Given the description of an element on the screen output the (x, y) to click on. 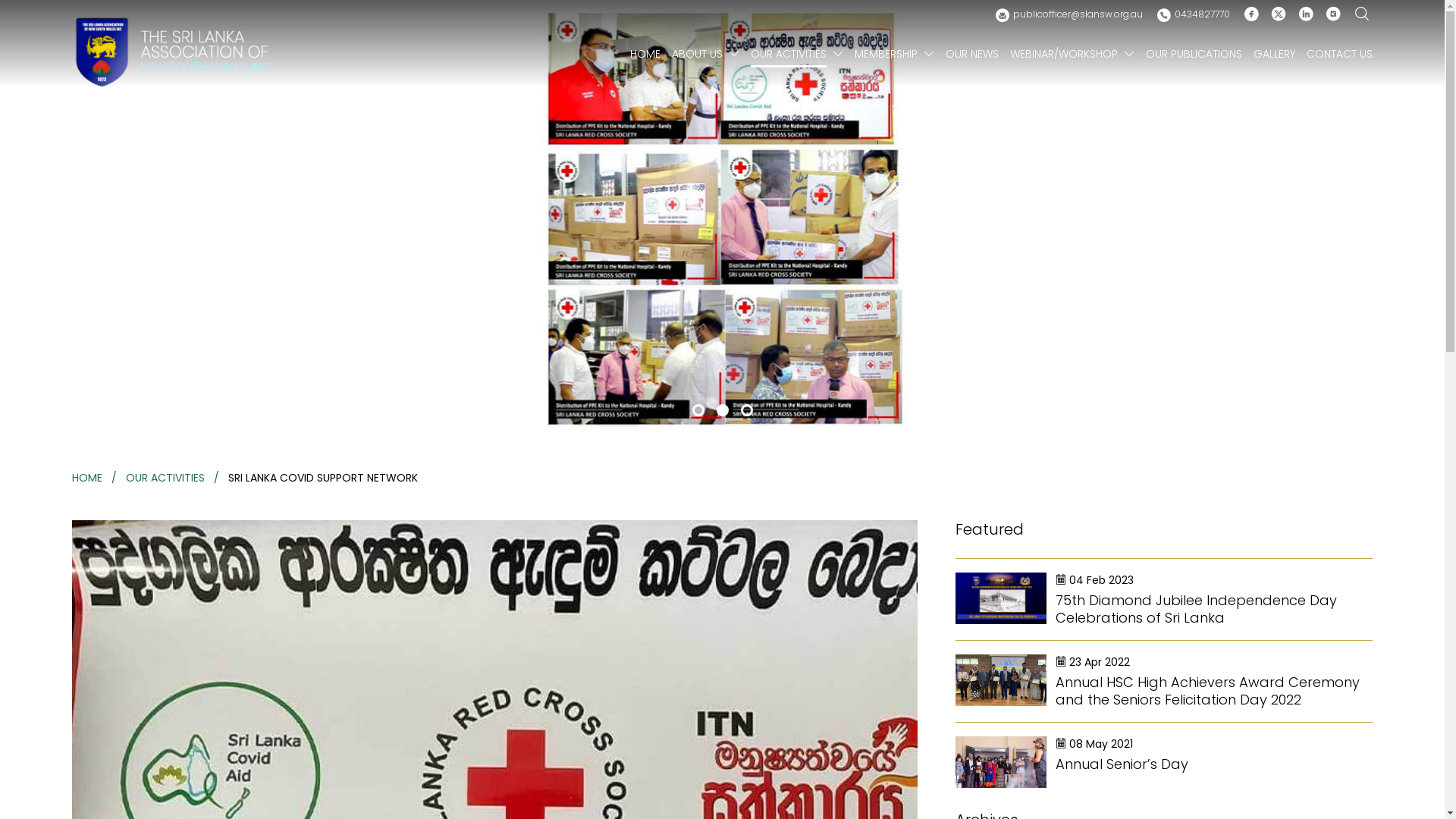
MEMBERSHIP Element type: text (885, 54)
publicofficer@slansw.org.au Element type: text (1068, 14)
OUR NEWS Element type: text (971, 54)
Instagram Element type: hover (1332, 14)
SRI LANKA COVID SUPPORT NETWORK Element type: text (322, 477)
OUR ACTIVITIES Element type: text (164, 477)
Facebook Element type: hover (1250, 14)
ABOUT US Element type: text (696, 54)
CONTACT US Element type: text (1339, 54)
WEBINAR/WORKSHOP Element type: text (1063, 54)
OUR PUBLICATIONS Element type: text (1193, 54)
0434827770 Element type: text (1193, 14)
Sri Lanka Association of NSW Inc. Logo Element type: hover (172, 51)
HOME Element type: text (87, 477)
OUR ACTIVITIES Element type: text (788, 54)
Twitter Element type: hover (1278, 14)
GALLERY Element type: text (1274, 54)
HOME Element type: text (645, 54)
LinkedIn Element type: hover (1305, 14)
SLANSW Activities Element type: hover (722, 218)
